Given the description of an element on the screen output the (x, y) to click on. 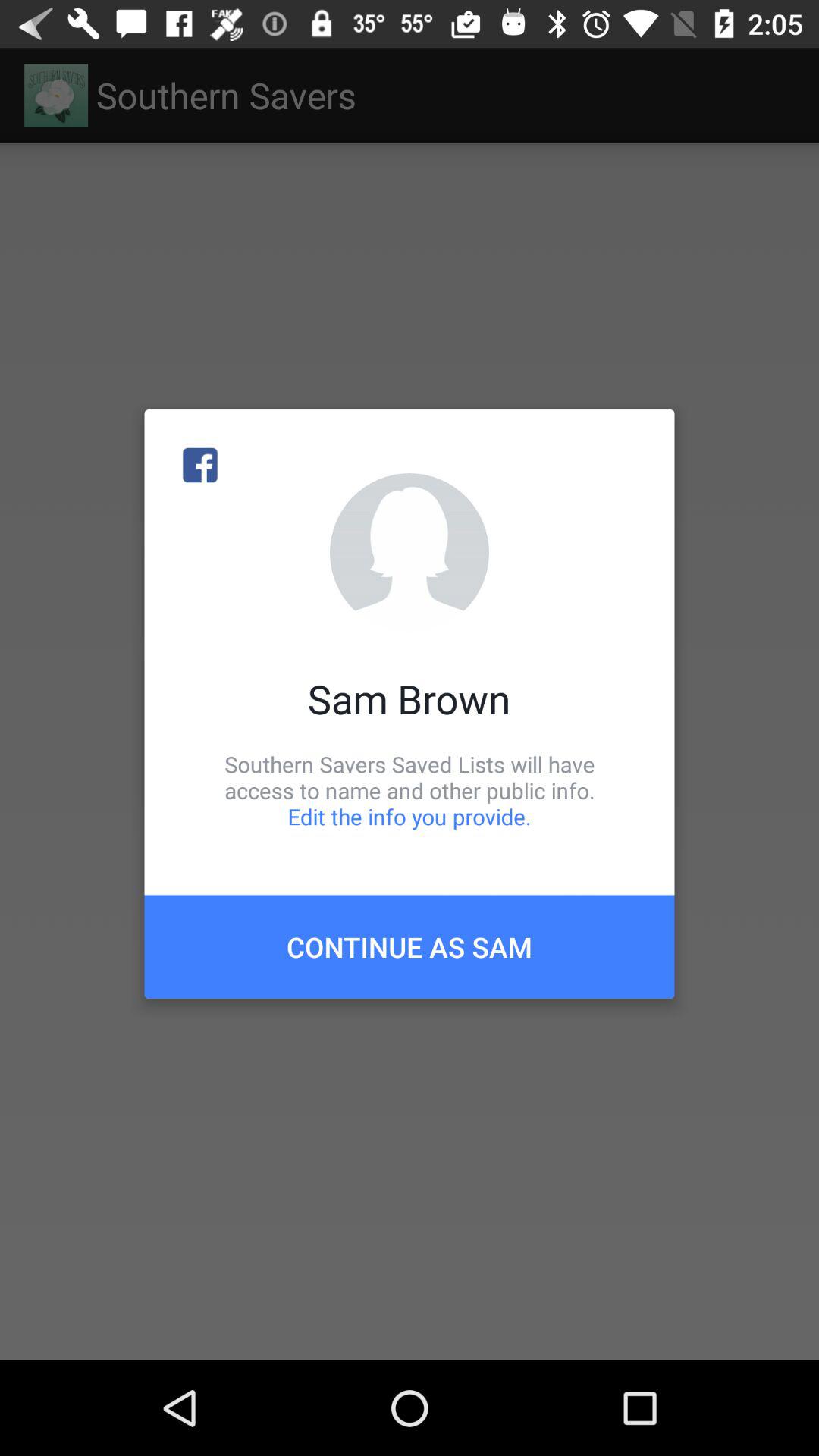
turn off item above continue as sam (409, 790)
